Given the description of an element on the screen output the (x, y) to click on. 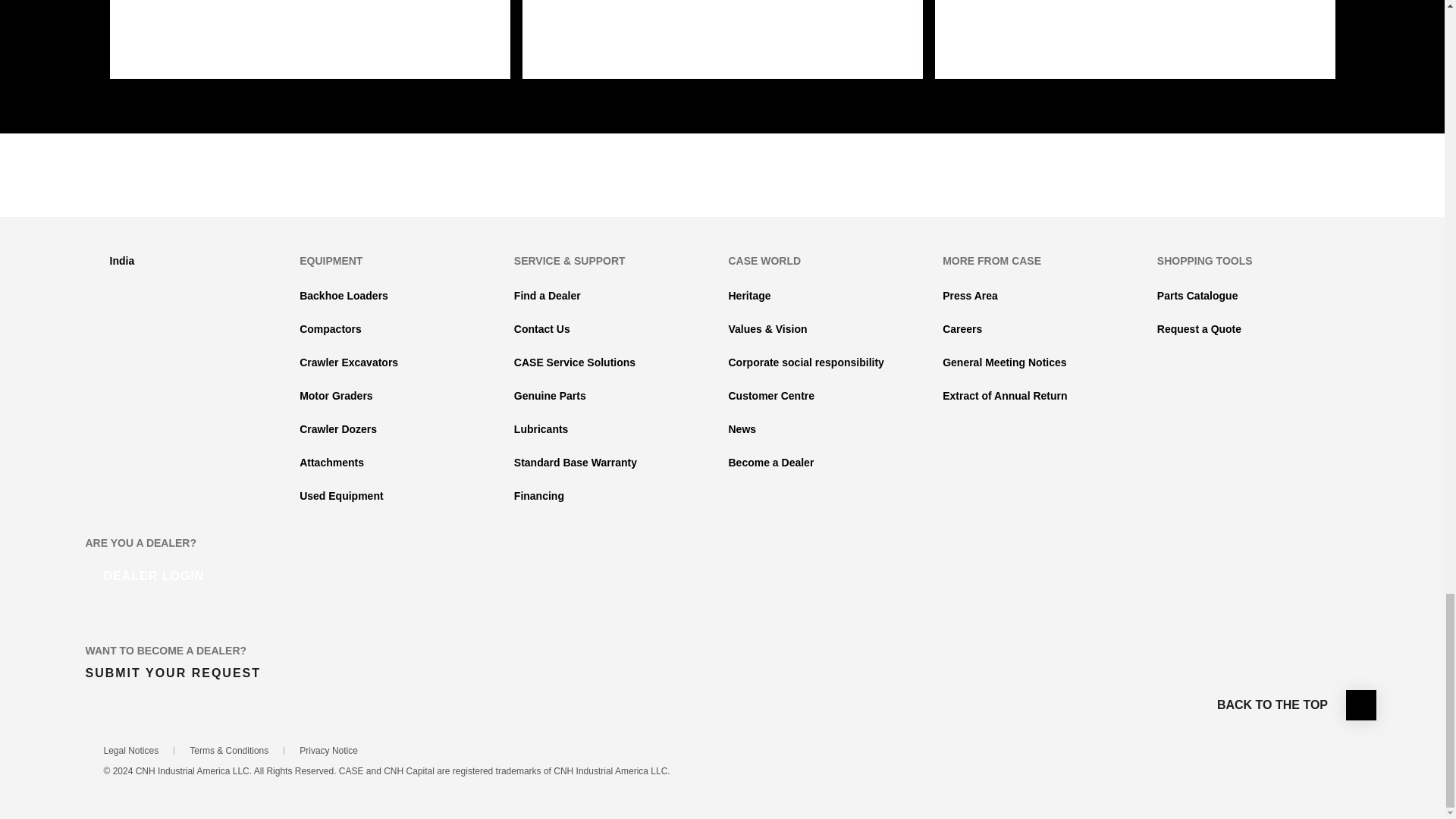
Facebook (660, 190)
Find a Dealer (546, 295)
Crawler Dozers (338, 428)
READ MORE (191, 35)
CASE WORLD (764, 260)
Attachments (331, 462)
Crawler Excavators (348, 362)
Used Equipment (340, 495)
Standard Base Warranty (575, 462)
Compactors (330, 328)
